Given the description of an element on the screen output the (x, y) to click on. 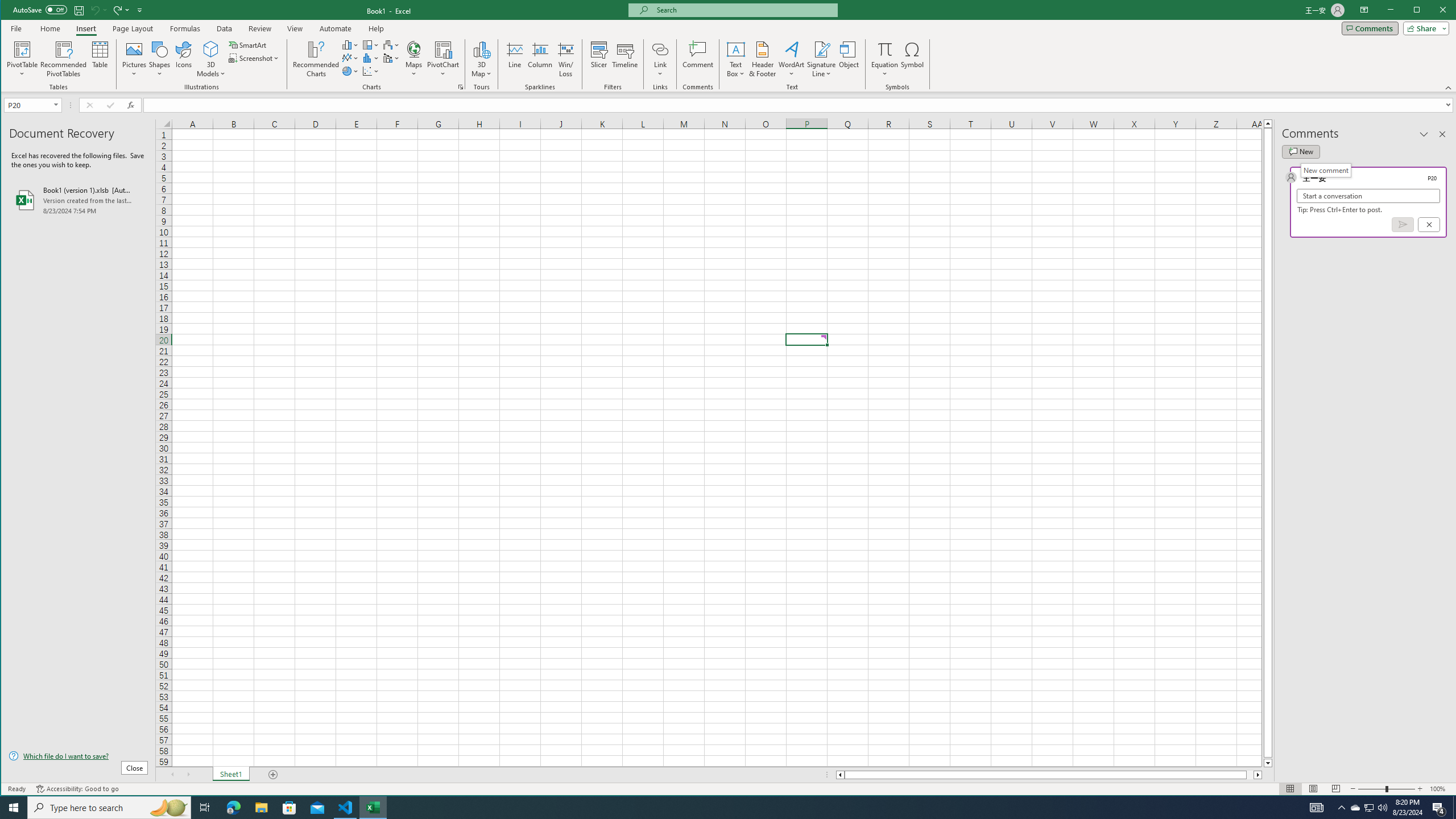
Object... (848, 59)
System (11, 10)
Class: NetUIScrollBar (1048, 774)
Pictures (134, 59)
New comment (1300, 151)
Task View (204, 807)
Line down (1267, 763)
Comment (697, 59)
PivotChart (443, 48)
Start a conversation (1368, 195)
Minimize (1419, 11)
Page right (1249, 774)
Start (13, 807)
Action Center, 4 new notifications (1439, 807)
New comment (1325, 169)
